Given the description of an element on the screen output the (x, y) to click on. 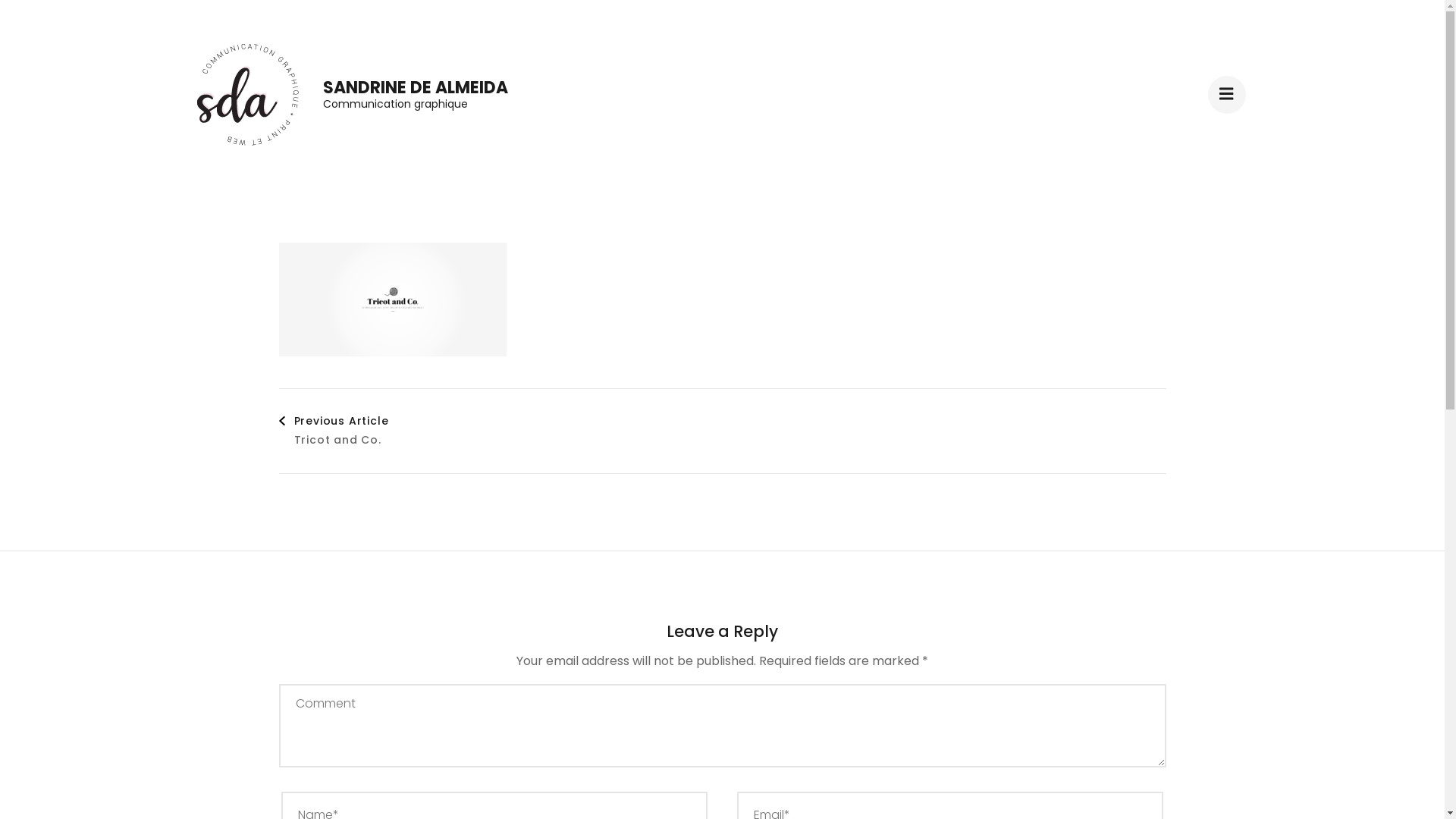
SANDRINE DE ALMEIDA Element type: text (415, 87)
Previous Article
Tricot and Co. Element type: text (334, 430)
